Given the description of an element on the screen output the (x, y) to click on. 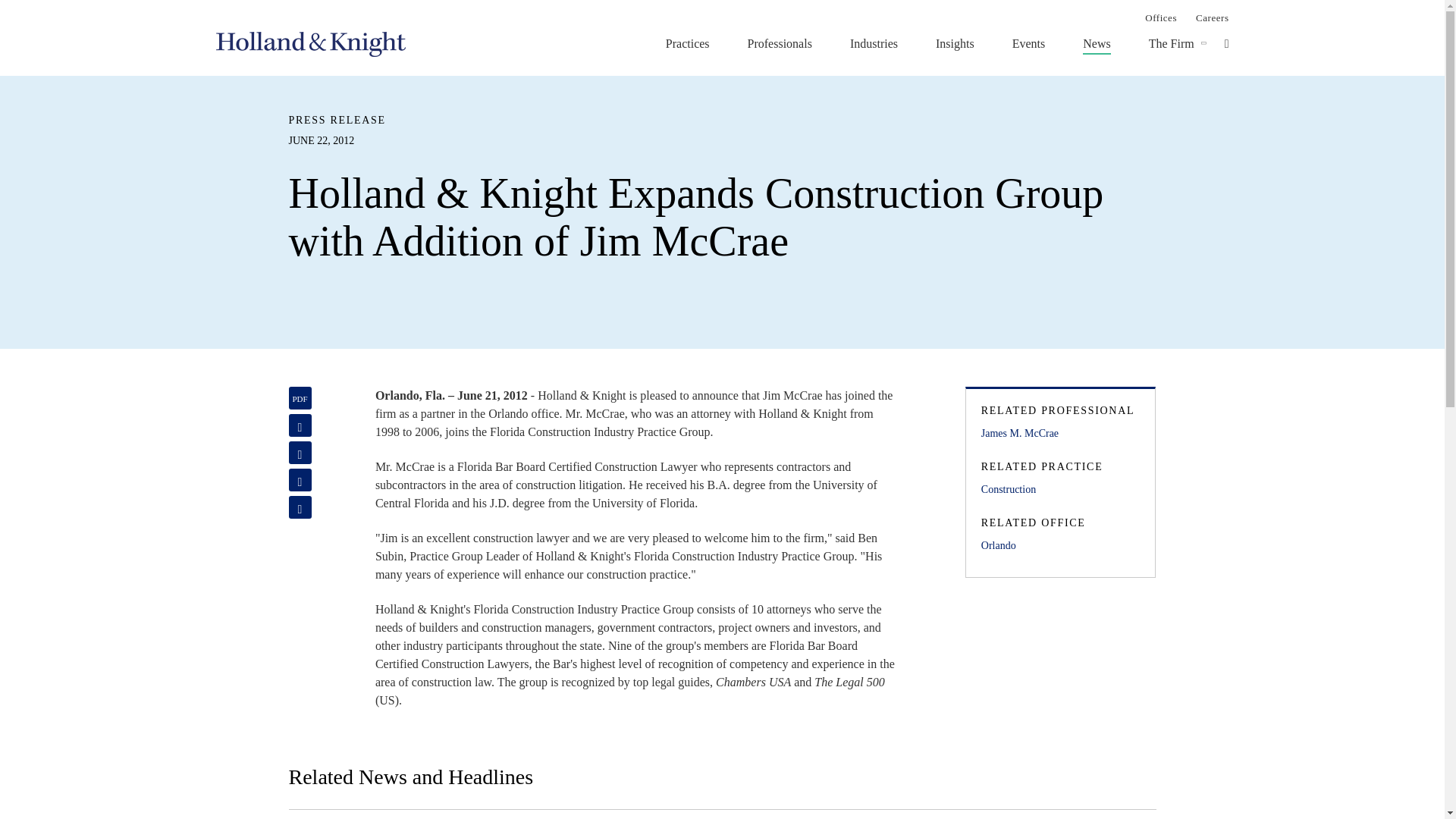
Professionals (780, 42)
Industries (874, 42)
News (1096, 42)
James M. McCrae (1060, 433)
Practices (687, 42)
The Firm (1170, 43)
Insights (955, 42)
Careers (1211, 16)
Construction (1060, 489)
Offices (1160, 16)
